Given the description of an element on the screen output the (x, y) to click on. 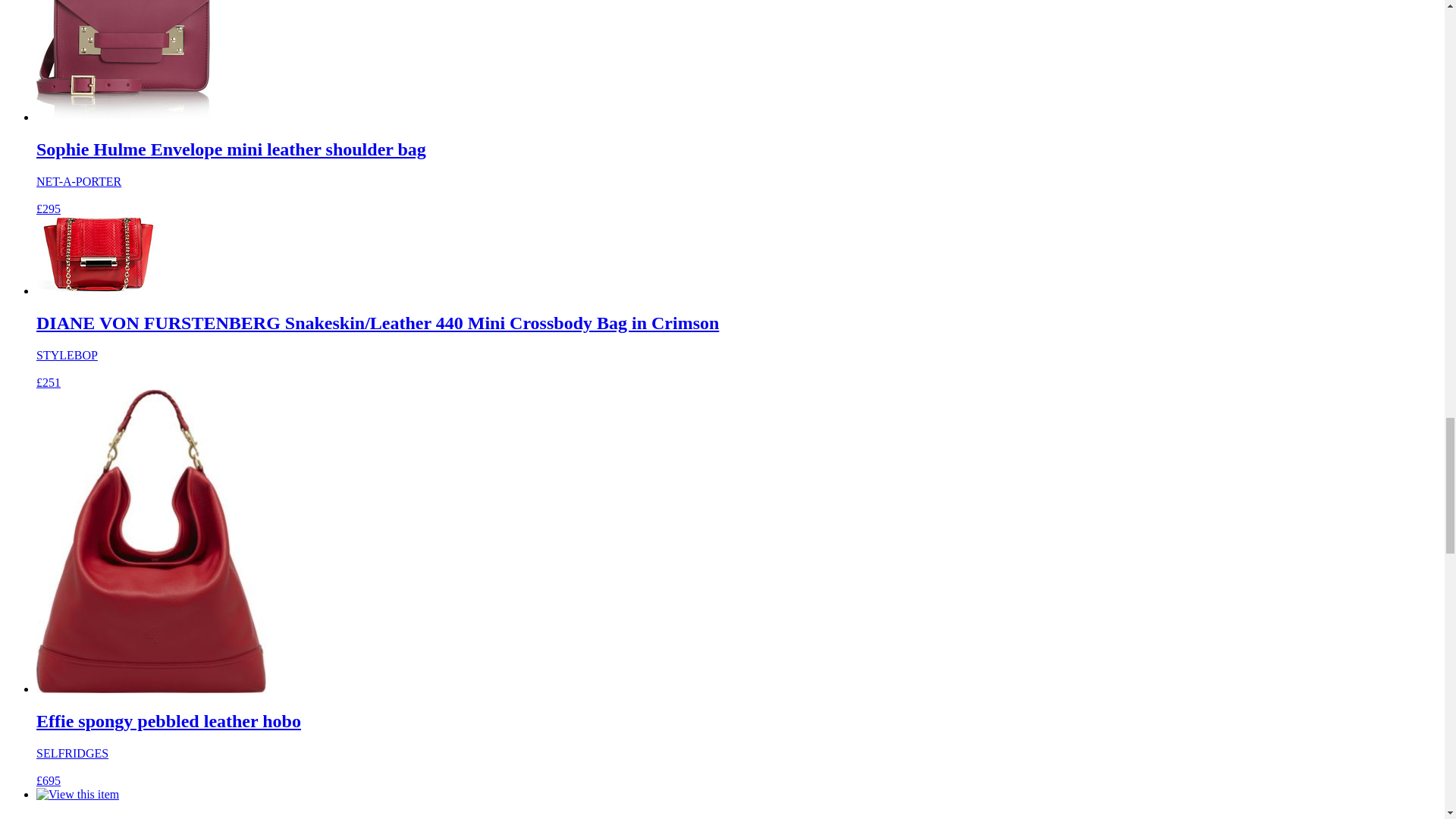
View this item (77, 794)
View this item (95, 255)
View this item (123, 60)
